Given the description of an element on the screen output the (x, y) to click on. 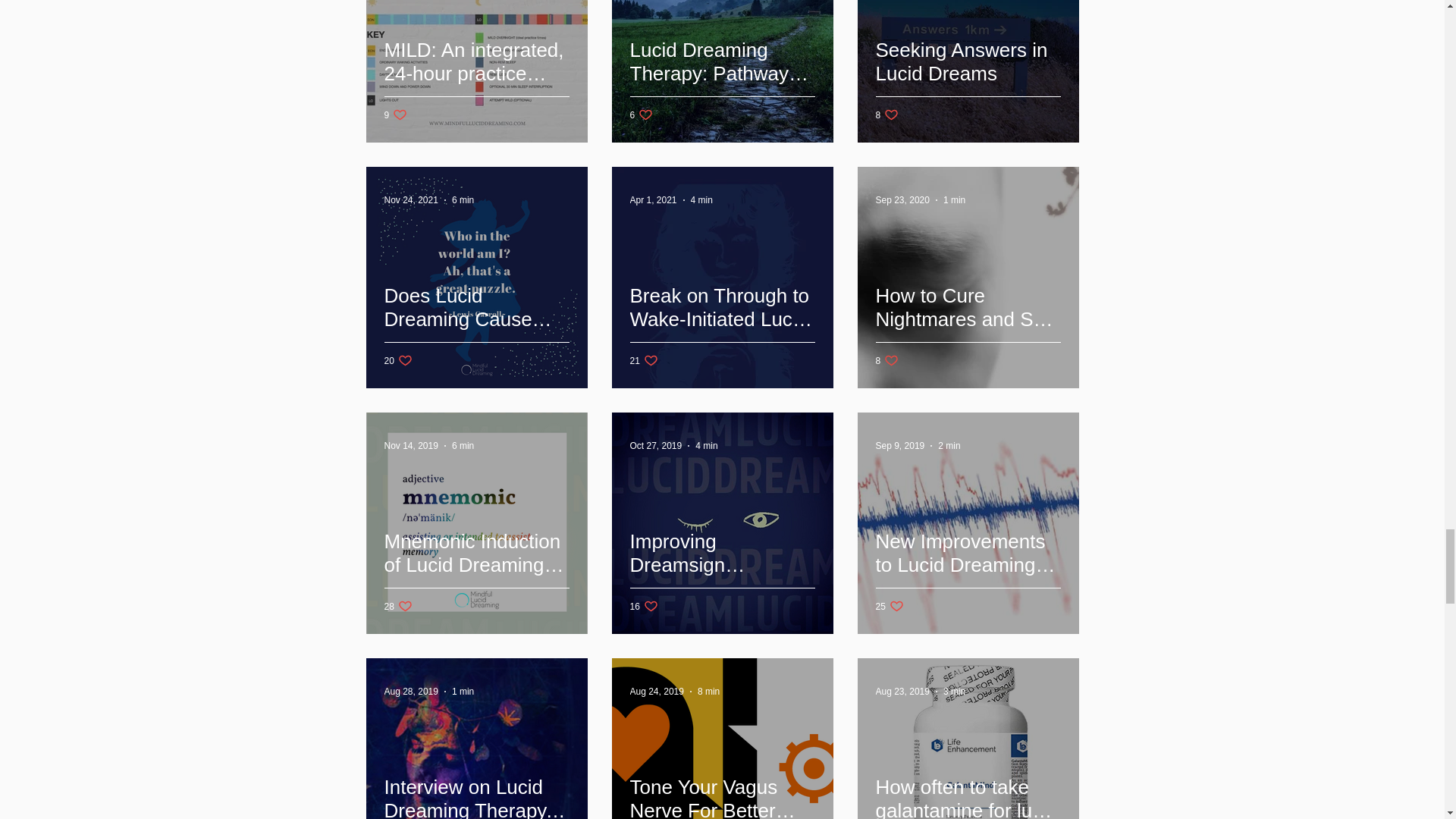
Nov 24, 2021 (411, 199)
Apr 1, 2021 (652, 199)
4 min (701, 199)
6 min (462, 199)
